Given the description of an element on the screen output the (x, y) to click on. 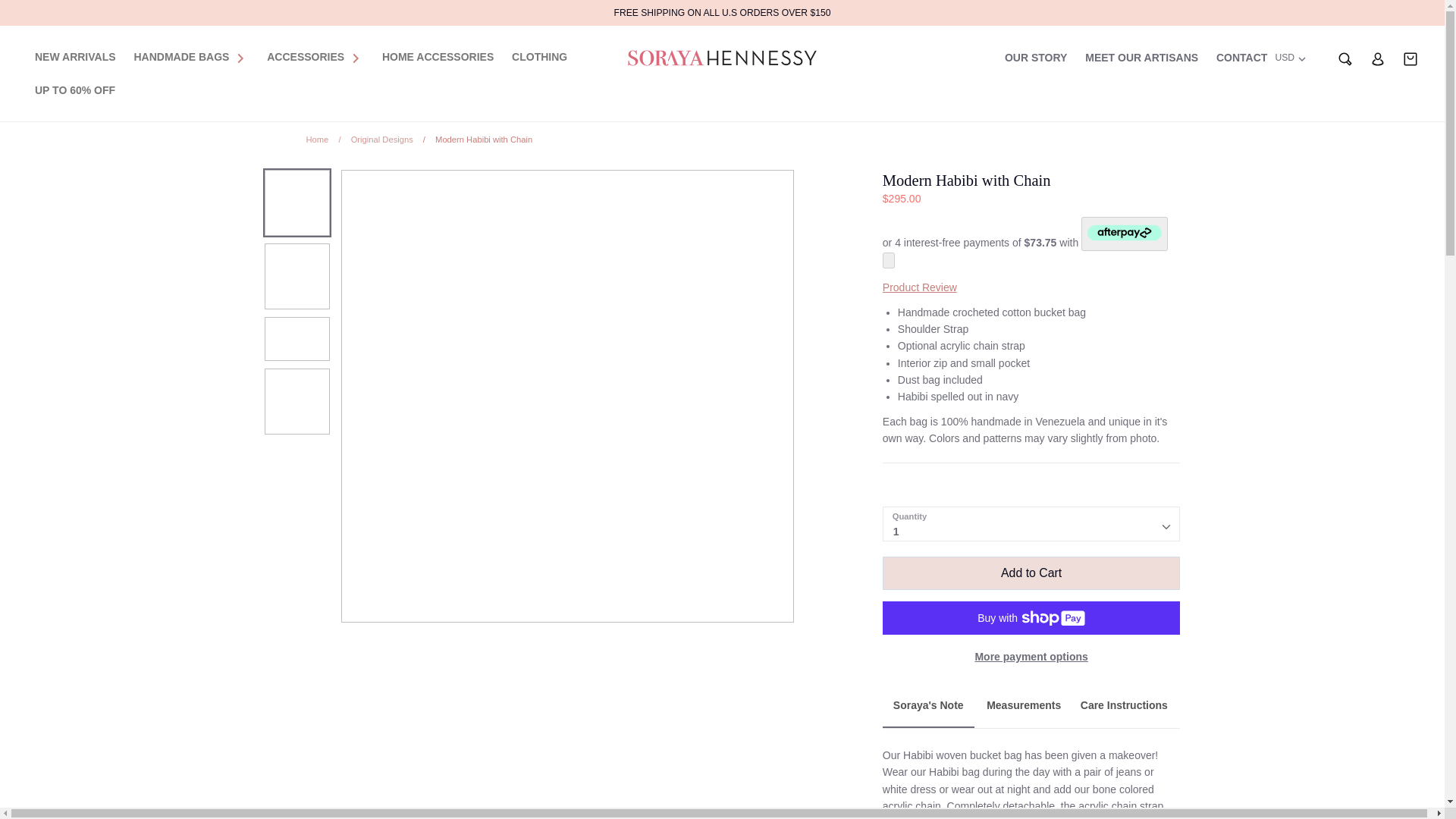
HOME ACCESSORIES (437, 56)
HANDMADE BAGS (180, 56)
CLOTHING (539, 56)
MEET OUR ARTISANS (1141, 57)
NEW ARRIVALS (75, 56)
ACCESSORIES (304, 56)
OUR STORY (1035, 57)
1 (1031, 523)
CONTACT (1240, 57)
